Given the description of an element on the screen output the (x, y) to click on. 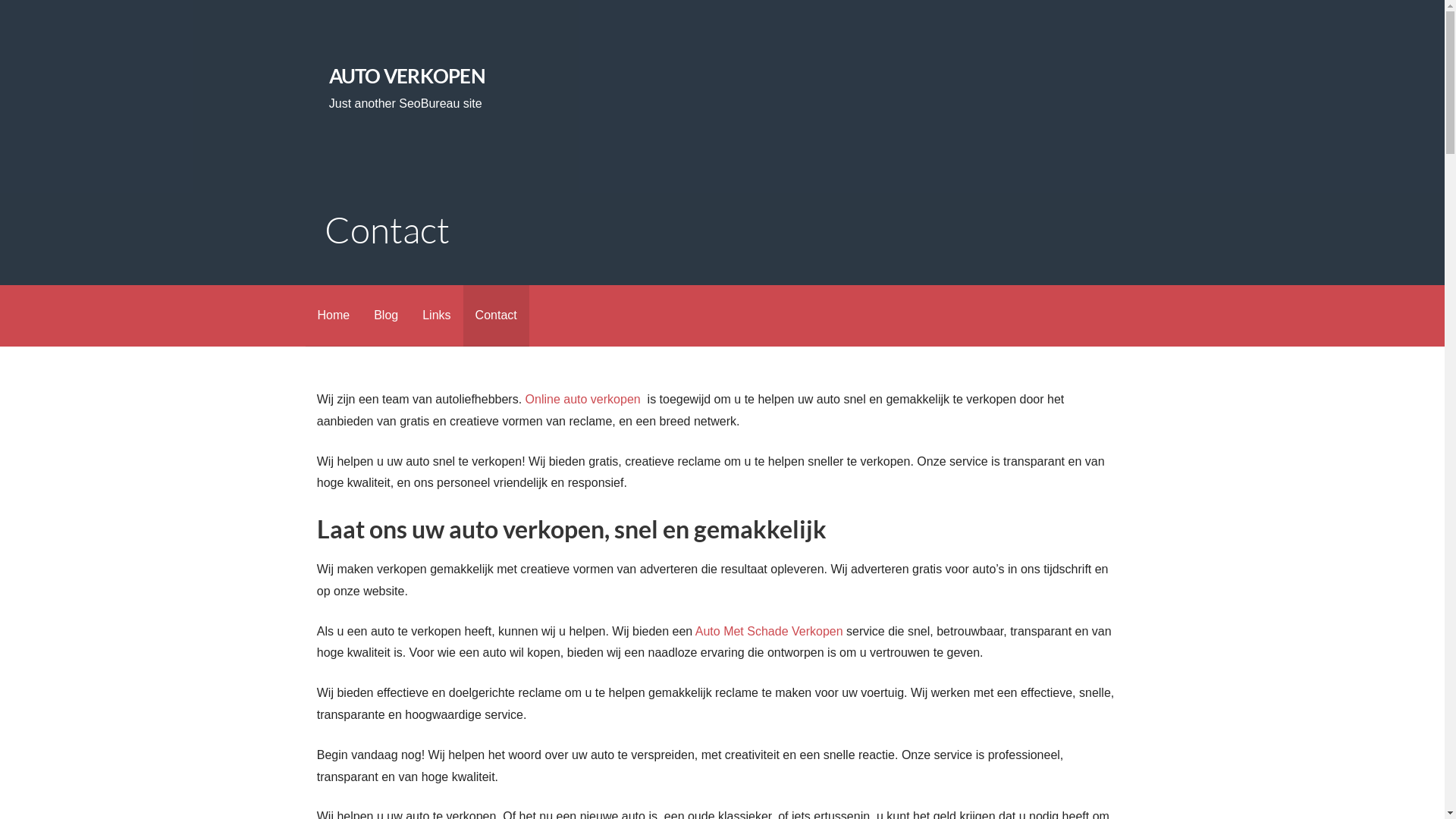
Home Element type: text (332, 315)
Auto Met Schade Verkopen Element type: text (769, 630)
AUTO VERKOPEN Element type: text (407, 75)
Links Element type: text (436, 315)
Online auto verkopen  Element type: text (584, 398)
Contact Element type: text (496, 315)
Blog Element type: text (385, 315)
